Given the description of an element on the screen output the (x, y) to click on. 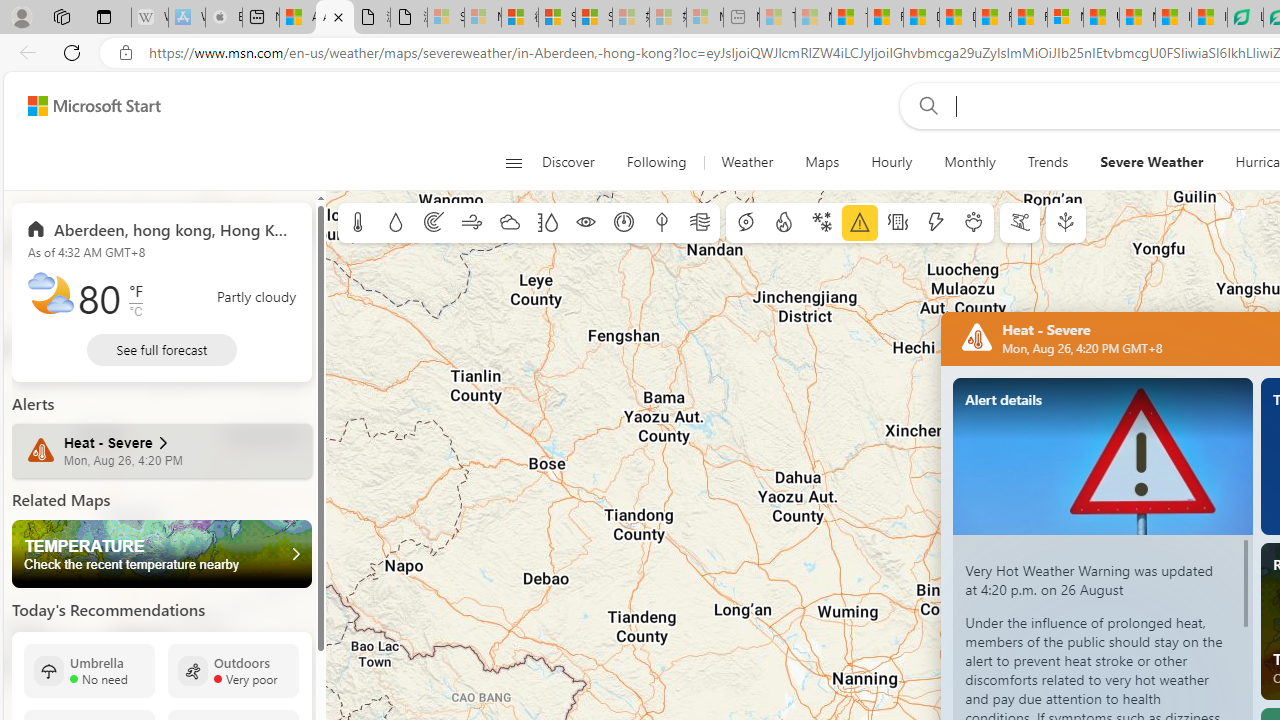
Maps (822, 162)
Hurricane (746, 223)
Heat - Severe Mon, Aug 26, 4:20 PM (161, 451)
Top Stories - MSN - Sleeping (777, 17)
Severe Weather (1151, 162)
Humidity (547, 223)
Skip to footer (82, 105)
Foo BAR | Trusted Community Engagement and Contributions (1029, 17)
Radar (433, 223)
Hourly (891, 162)
